Given the description of an element on the screen output the (x, y) to click on. 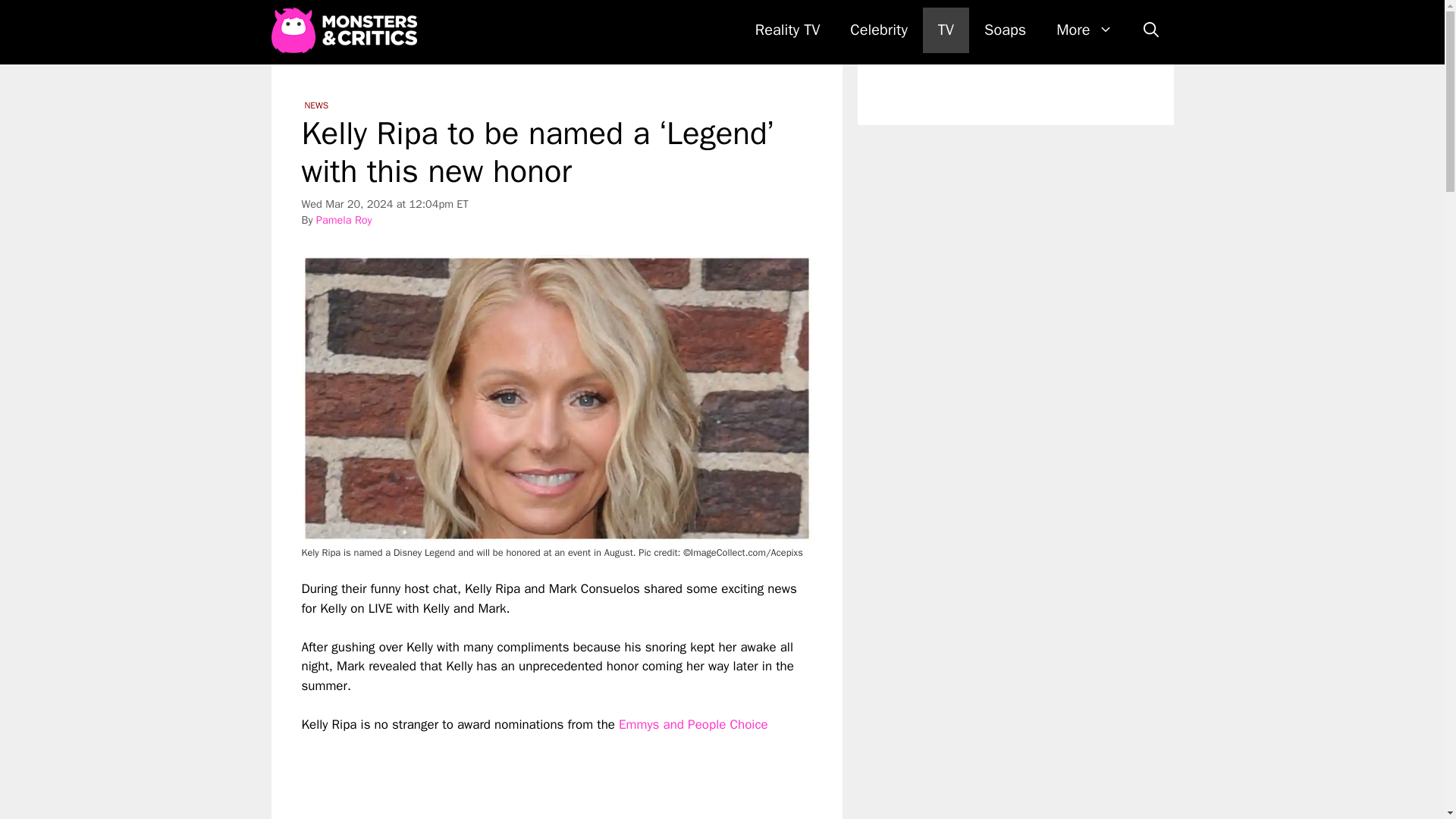
Soaps (1005, 30)
Pamela Roy (343, 219)
Reality TV (787, 30)
Celebrity (877, 30)
TV (946, 30)
Monsters and Critics (347, 30)
YouTube video player (561, 776)
View all posts by Pamela Roy (343, 219)
Monsters and Critics (343, 30)
Emmys and People Choice Awards. (534, 767)
